Given the description of an element on the screen output the (x, y) to click on. 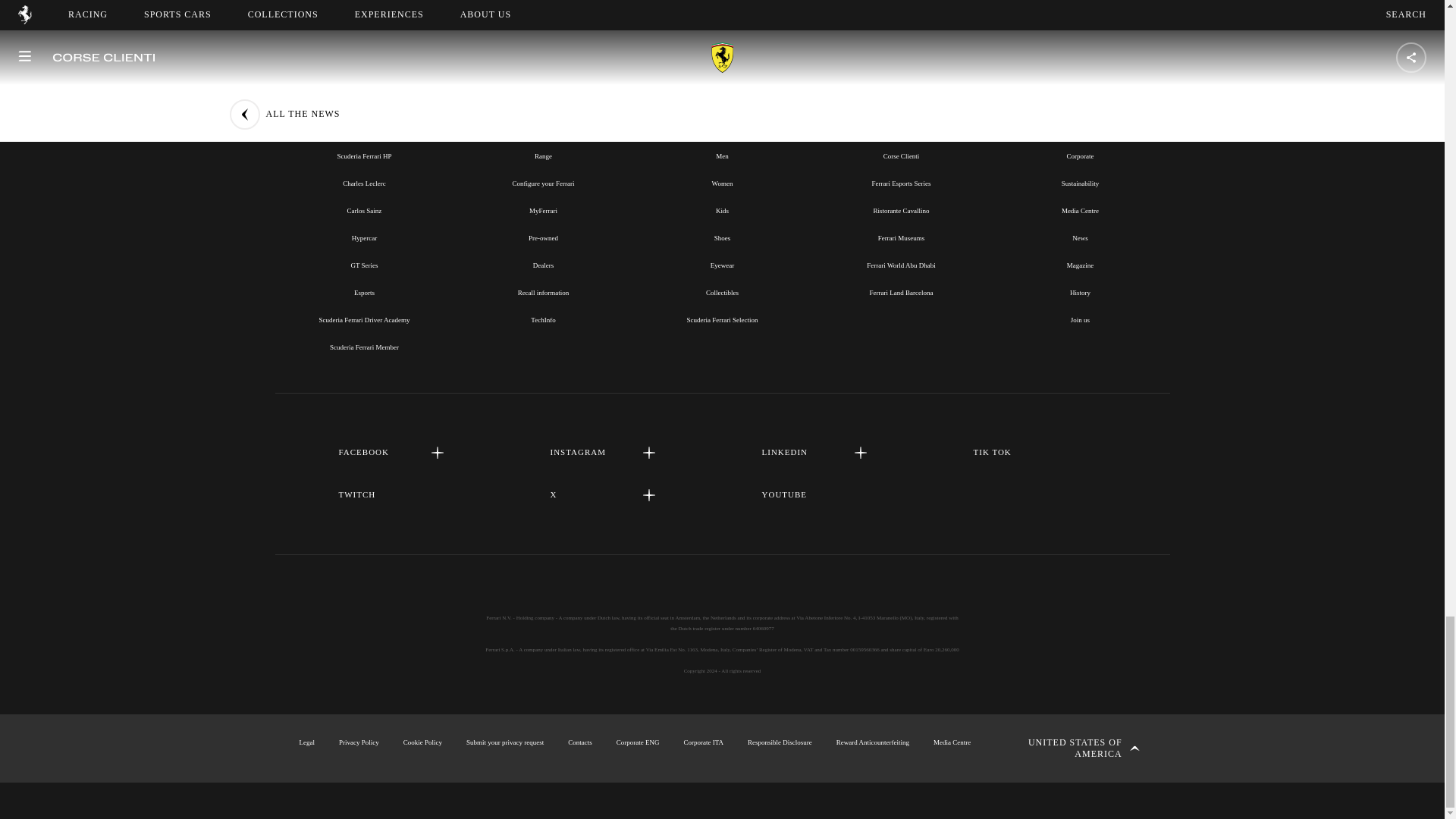
Esports (363, 292)
Hypercar (364, 237)
Range (542, 155)
Change country (1072, 748)
Pre-owned (542, 237)
Scuderia Ferrari Member (364, 347)
Recall information (543, 292)
Dealers (542, 265)
SUBSCRIBE (721, 2)
MyFerrari (543, 210)
